Given the description of an element on the screen output the (x, y) to click on. 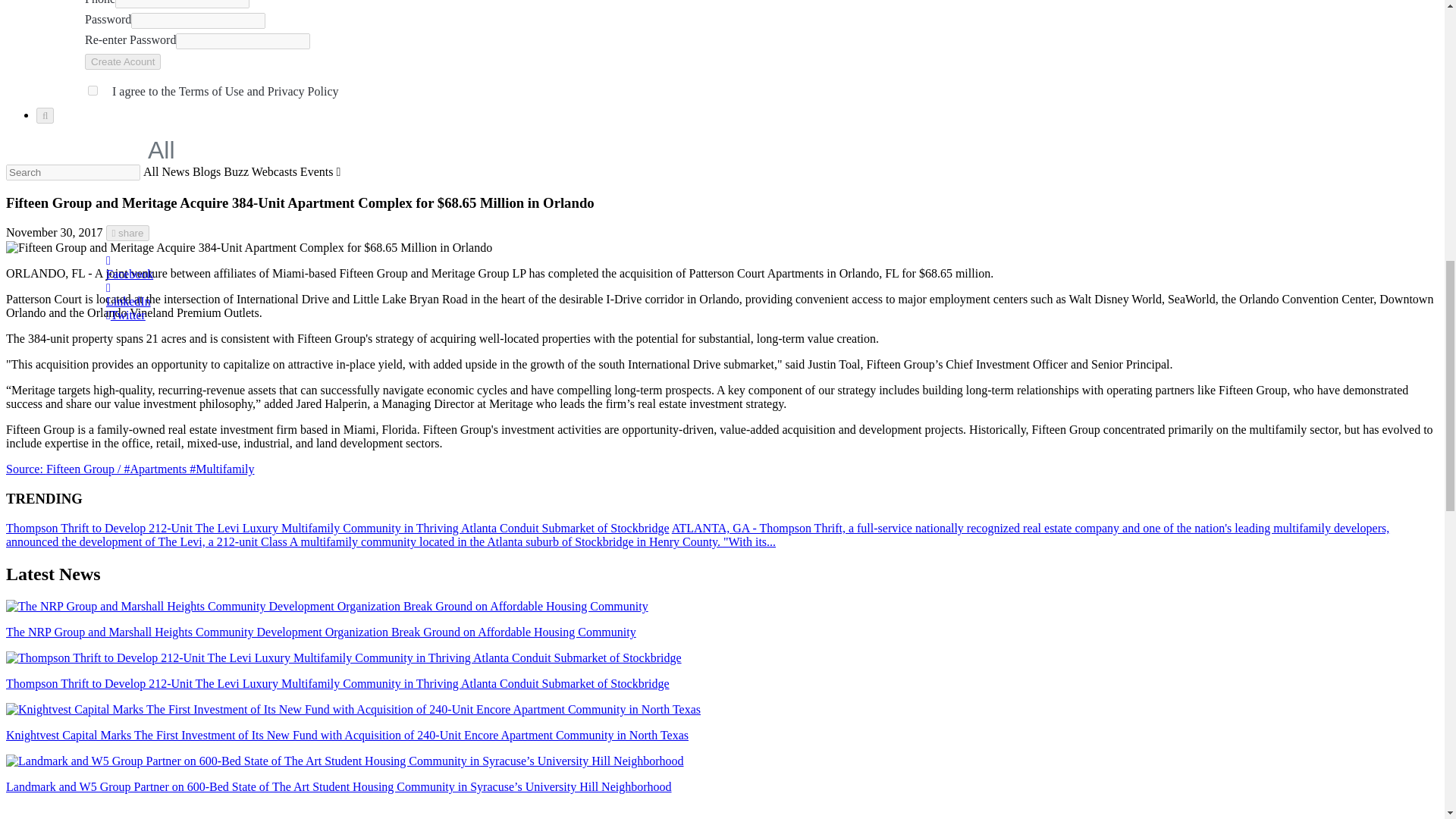
Search Button (44, 115)
News (175, 171)
true (92, 90)
All (170, 150)
Events (316, 171)
All (150, 171)
Buzz (236, 171)
Create Acount (122, 61)
Blogs (206, 171)
Webcasts (274, 171)
